Given the description of an element on the screen output the (x, y) to click on. 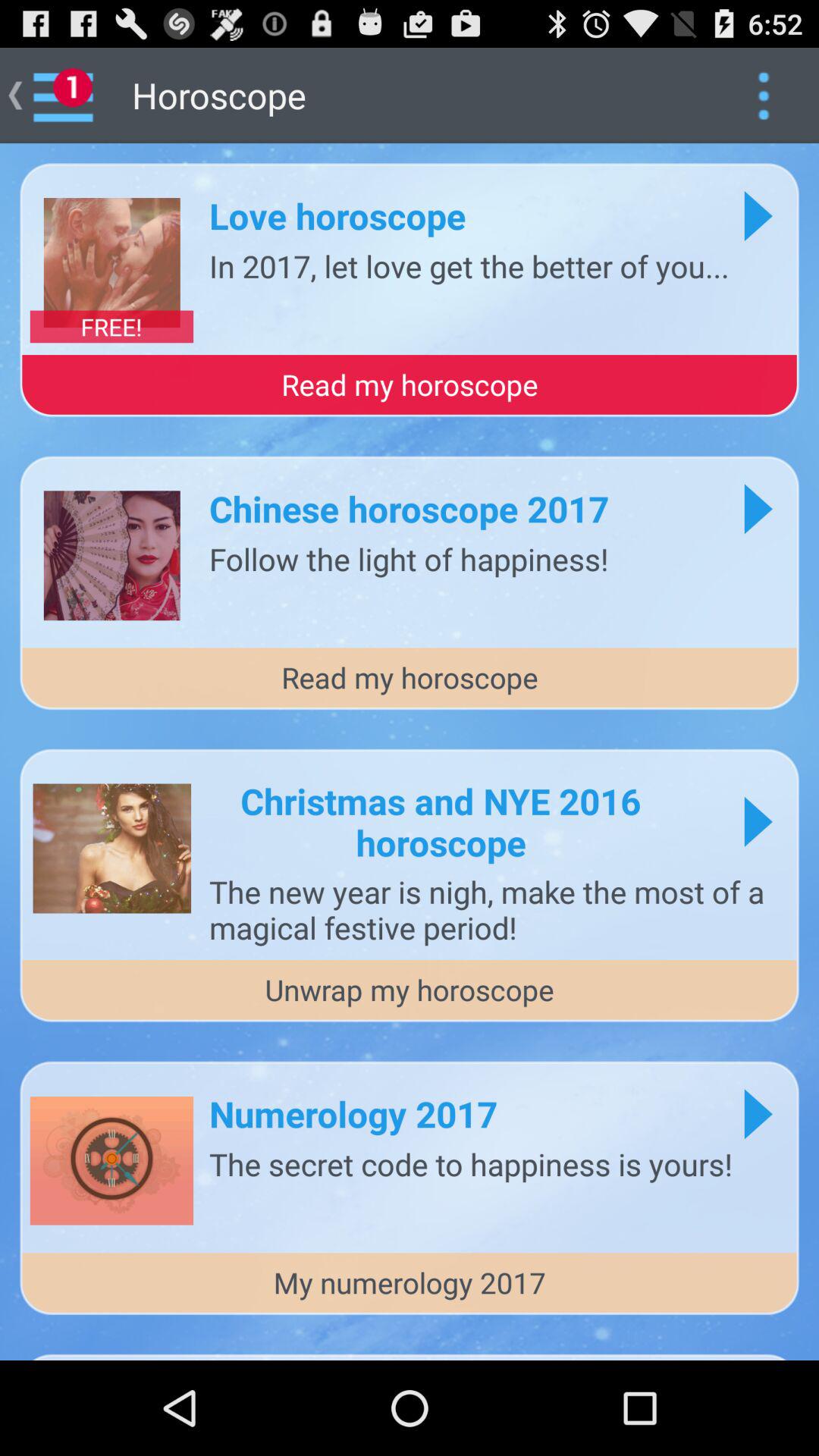
flip to the secret code item (470, 1163)
